Given the description of an element on the screen output the (x, y) to click on. 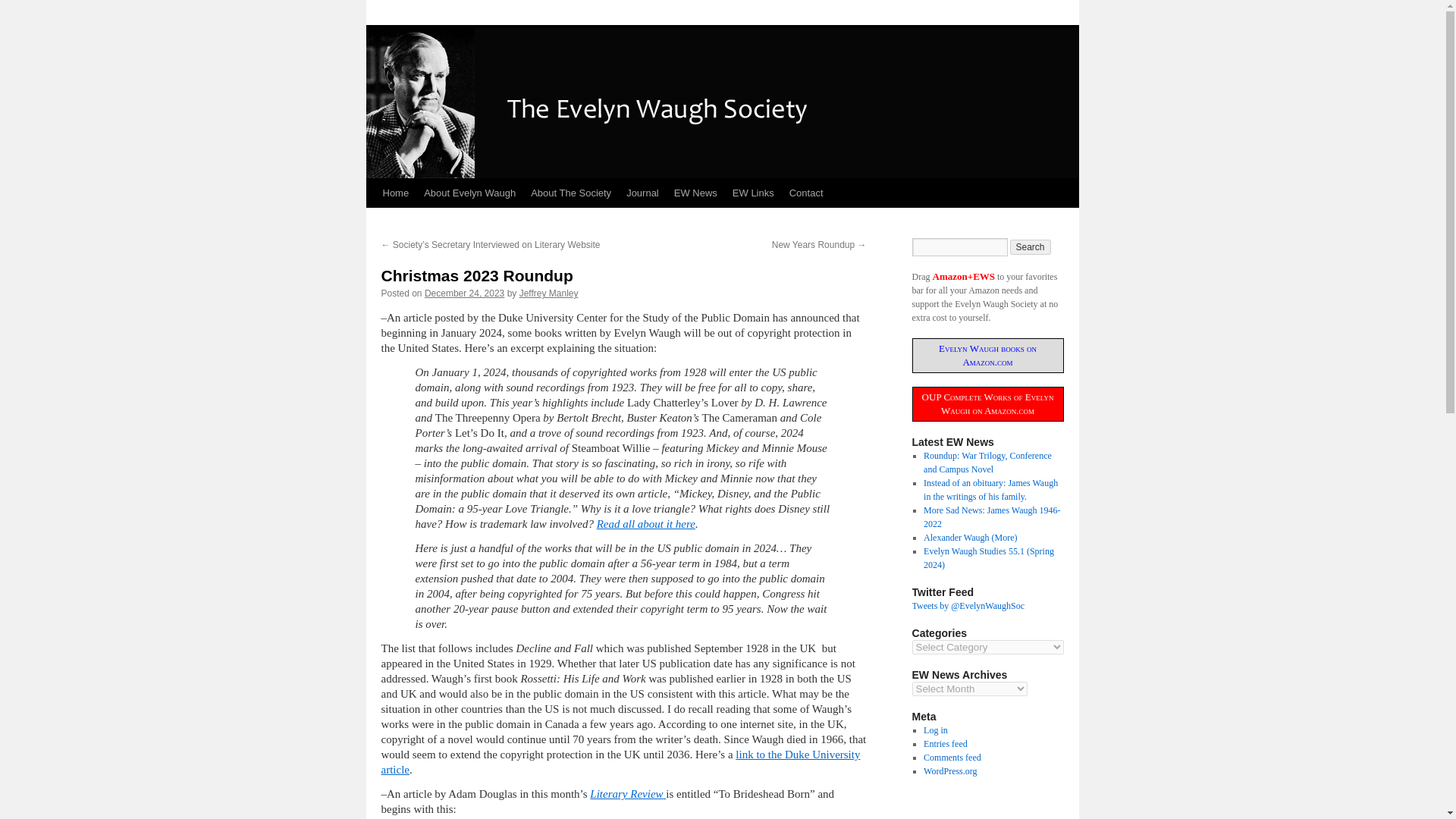
OUP Complete Works of Evelyn Waugh on Amazon.com (987, 404)
11:02 AM (464, 293)
Literary Review (627, 793)
December 24, 2023 (464, 293)
View all posts by Jeffrey Manley (548, 293)
Jeffrey Manley (548, 293)
Roundup: War Trilogy, Conference and Campus Novel (987, 462)
Evelyn Waugh books on Amazon.com (987, 355)
EW News (695, 193)
Contact (806, 193)
